Given the description of an element on the screen output the (x, y) to click on. 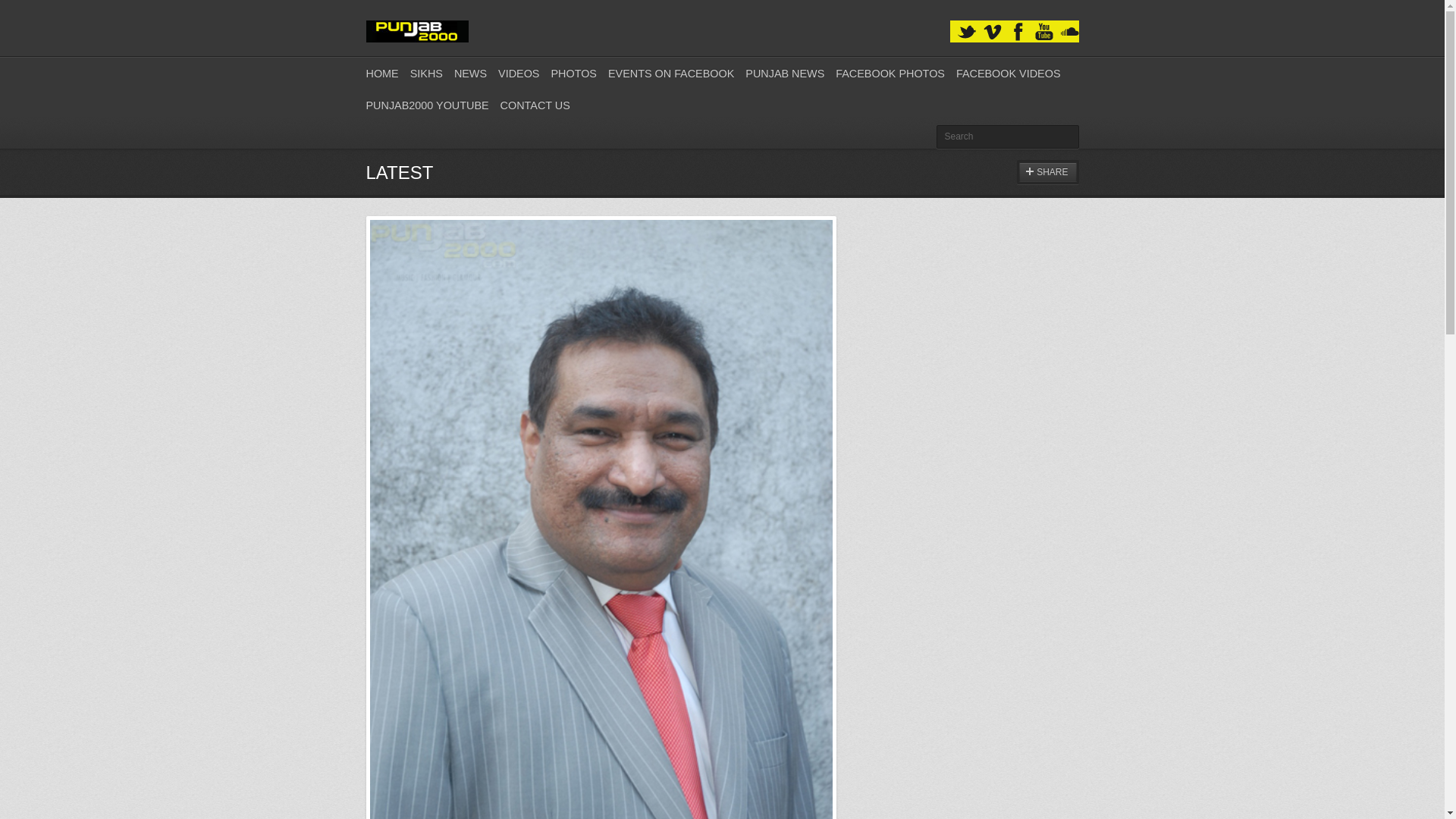
FACEBOOK VIDEOS (1008, 73)
EVENTS ON FACEBOOK (670, 73)
NEWS (470, 73)
Search (1007, 136)
Facebook (1017, 31)
PHOTOS (573, 73)
CONTACT US (535, 105)
PUNJAB NEWS (784, 73)
SIKHS (426, 73)
PUNJAB2000 YOUTUBE (426, 105)
YouTube (1042, 31)
Vimeo (991, 31)
Twitter (965, 31)
SoundCloud (1068, 31)
FACEBOOK PHOTOS (889, 73)
